Given the description of an element on the screen output the (x, y) to click on. 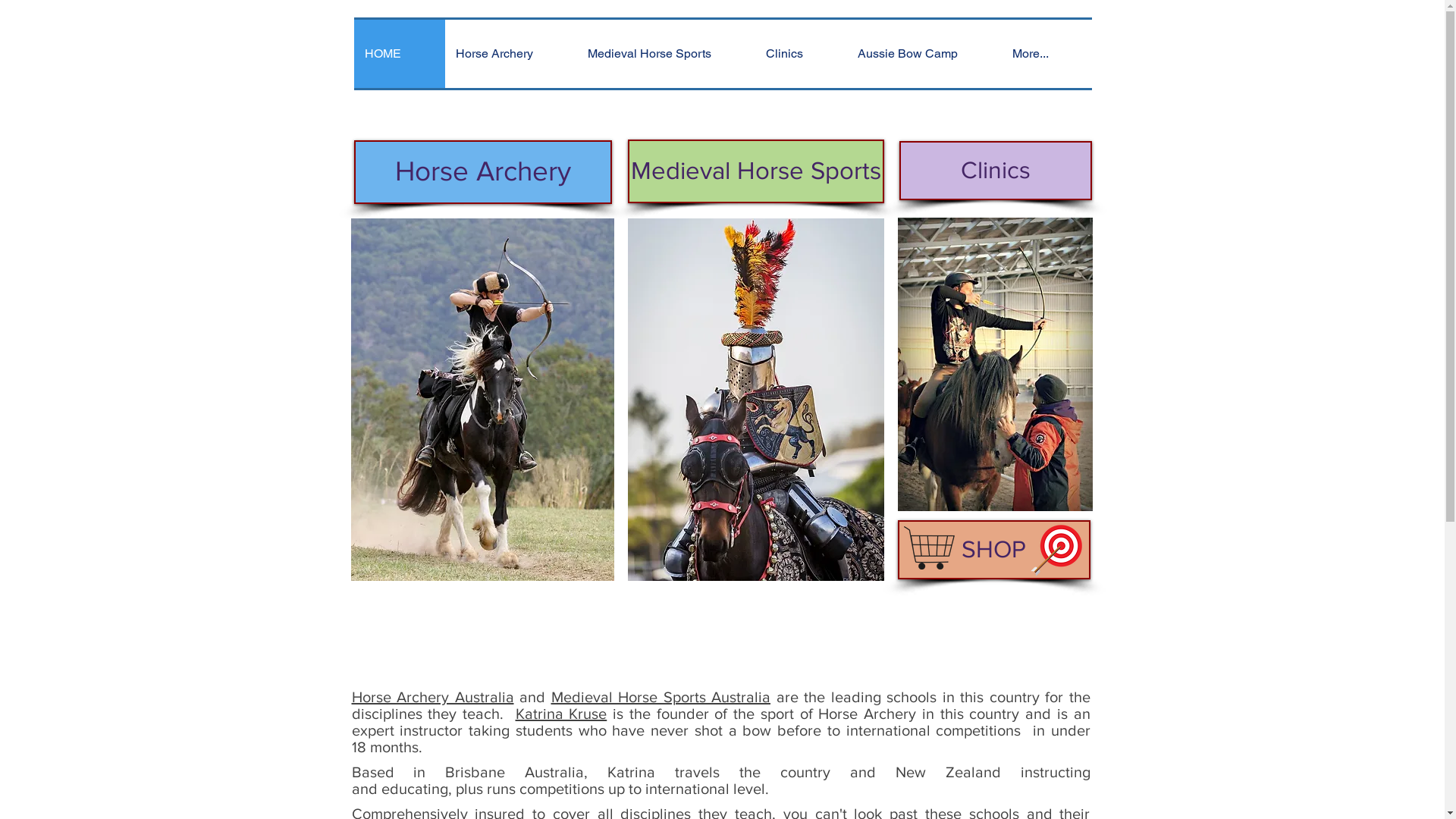
Katrina Kruse Element type: text (561, 713)
Horse Archery Element type: text (510, 53)
Aussie Bow Camp Element type: text (923, 53)
Clinics Element type: text (995, 170)
Horse Archery Element type: text (482, 171)
0 Element type: text (1080, 48)
Clinics Element type: text (801, 53)
HOME Element type: text (398, 53)
Medieval Horse Sports Australia Element type: text (660, 696)
Medieval Horse Sports Element type: text (755, 171)
Medieval Horse Sports Element type: text (665, 53)
SHOP Element type: text (993, 549)
Horse Archery Australia Element type: text (432, 696)
